Given the description of an element on the screen output the (x, y) to click on. 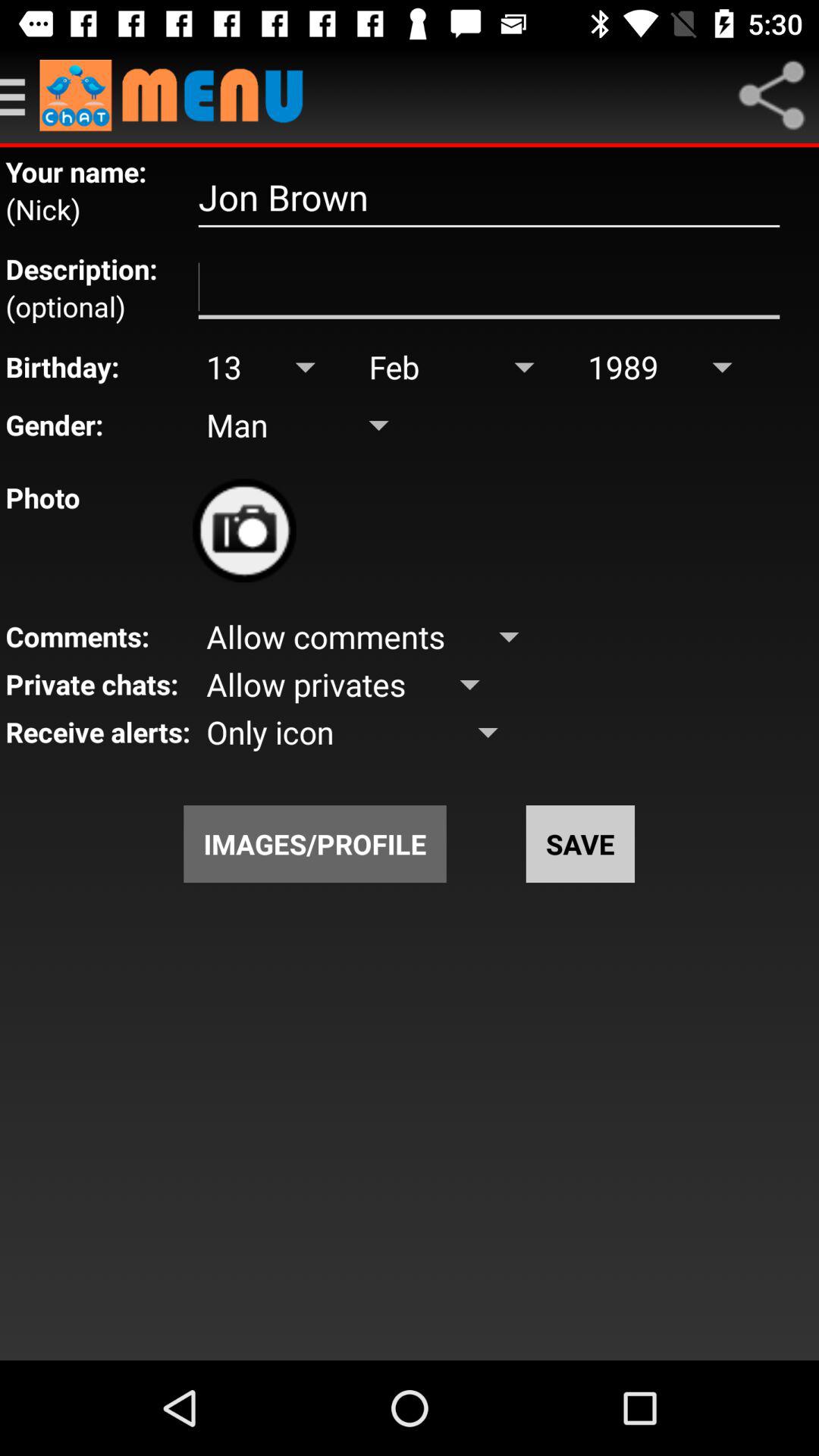
go to menu 's home page (178, 95)
